Given the description of an element on the screen output the (x, y) to click on. 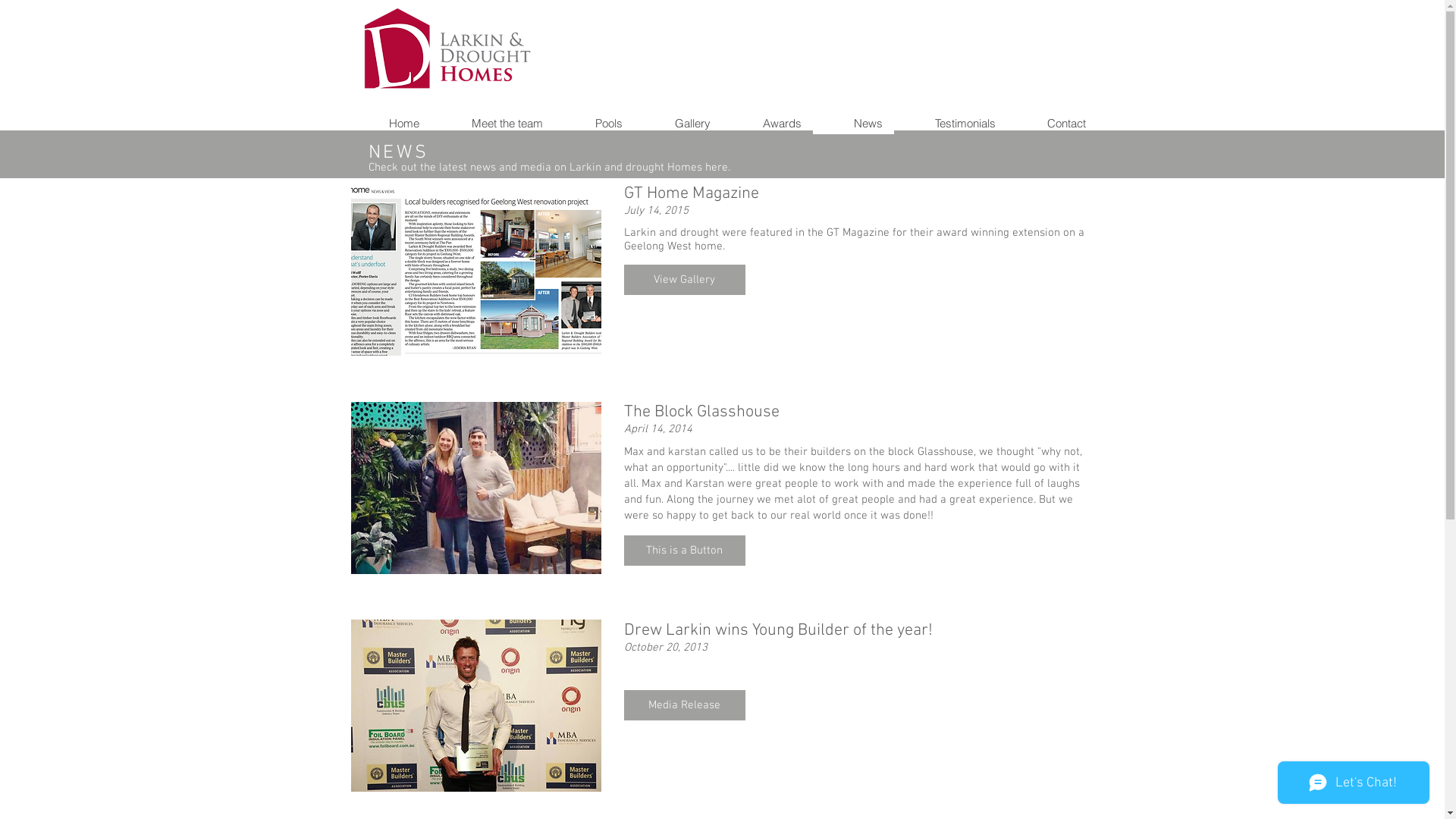
Home Element type: text (389, 123)
Media Release Element type: text (683, 705)
Testimonials Element type: text (949, 123)
Meet the team Element type: text (492, 123)
1375707_544487582300013_928024645_n.jpg Element type: hover (475, 705)
Awards Element type: text (766, 123)
Pools Element type: text (593, 123)
News Element type: text (853, 123)
Contact Element type: text (1052, 123)
Max and Karstan in their terrace Element type: hover (475, 487)
article from the GT Magazine on Larkin and Drought  Element type: hover (475, 269)
